Given the description of an element on the screen output the (x, y) to click on. 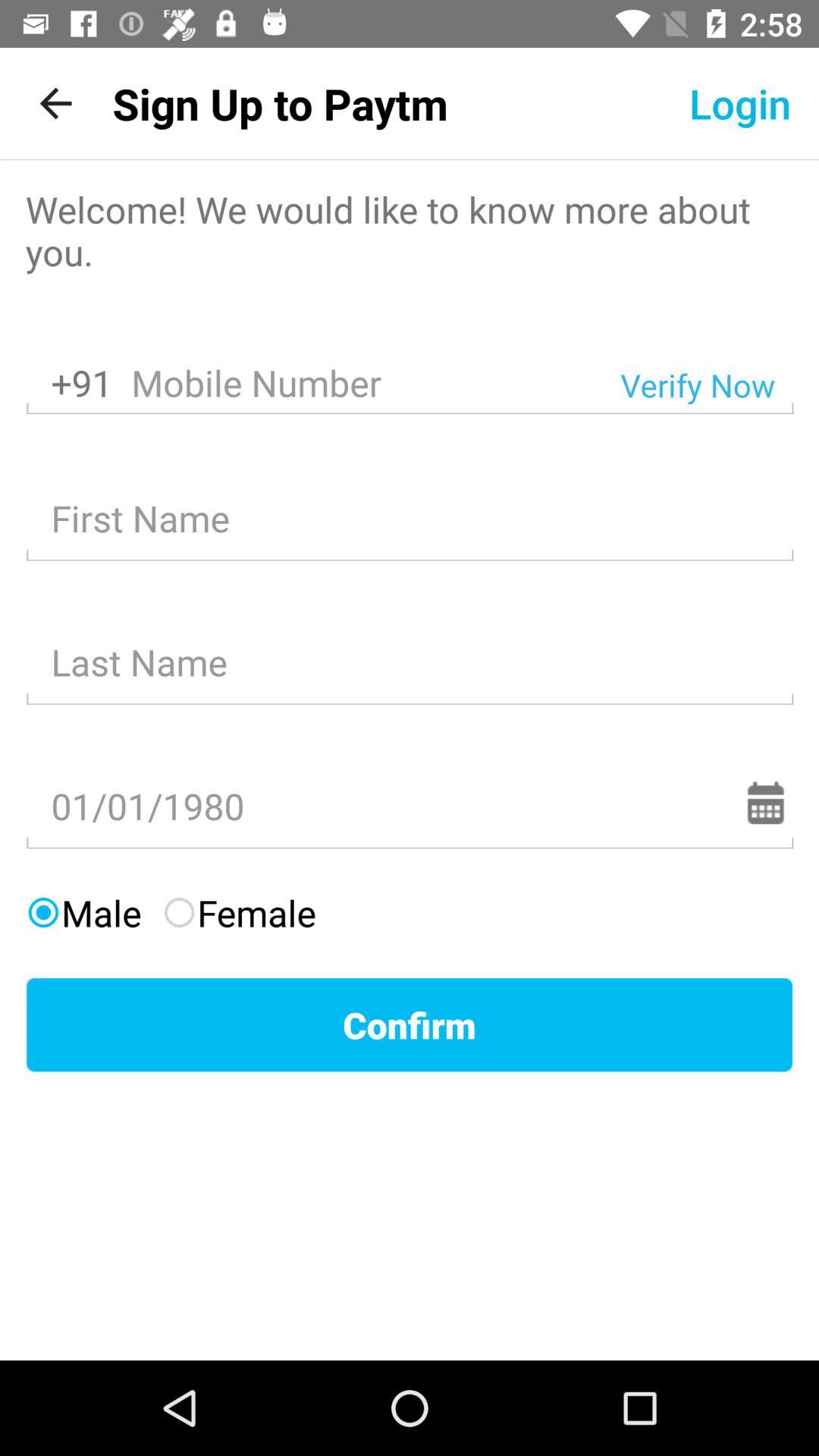
choose the item above the confirm (83, 912)
